Given the description of an element on the screen output the (x, y) to click on. 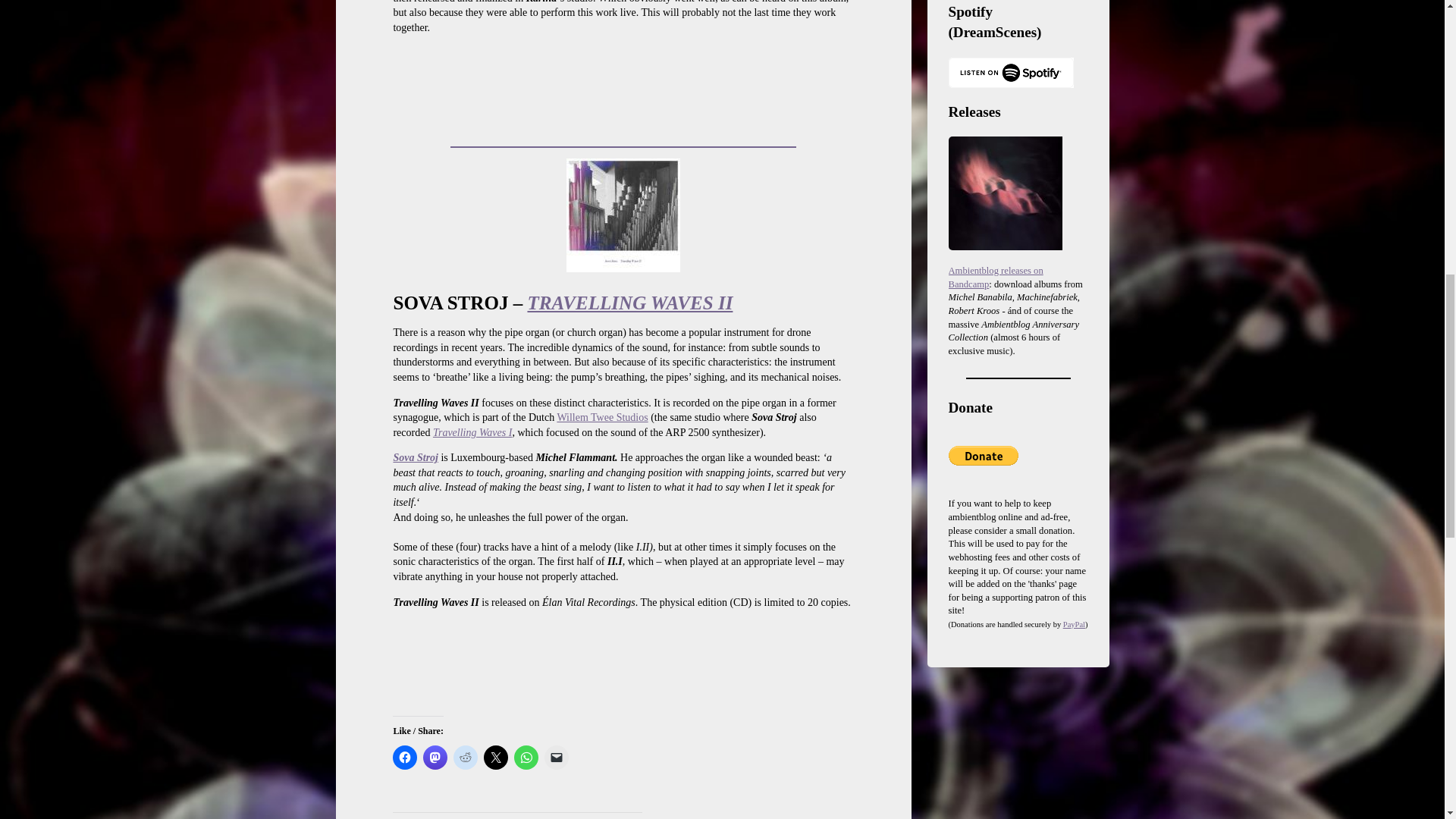
Willem Twee Studios (601, 417)
TRAVELLING WAVES II (629, 302)
Travelling Waves I (472, 432)
Sova Stroj (415, 457)
